Given the description of an element on the screen output the (x, y) to click on. 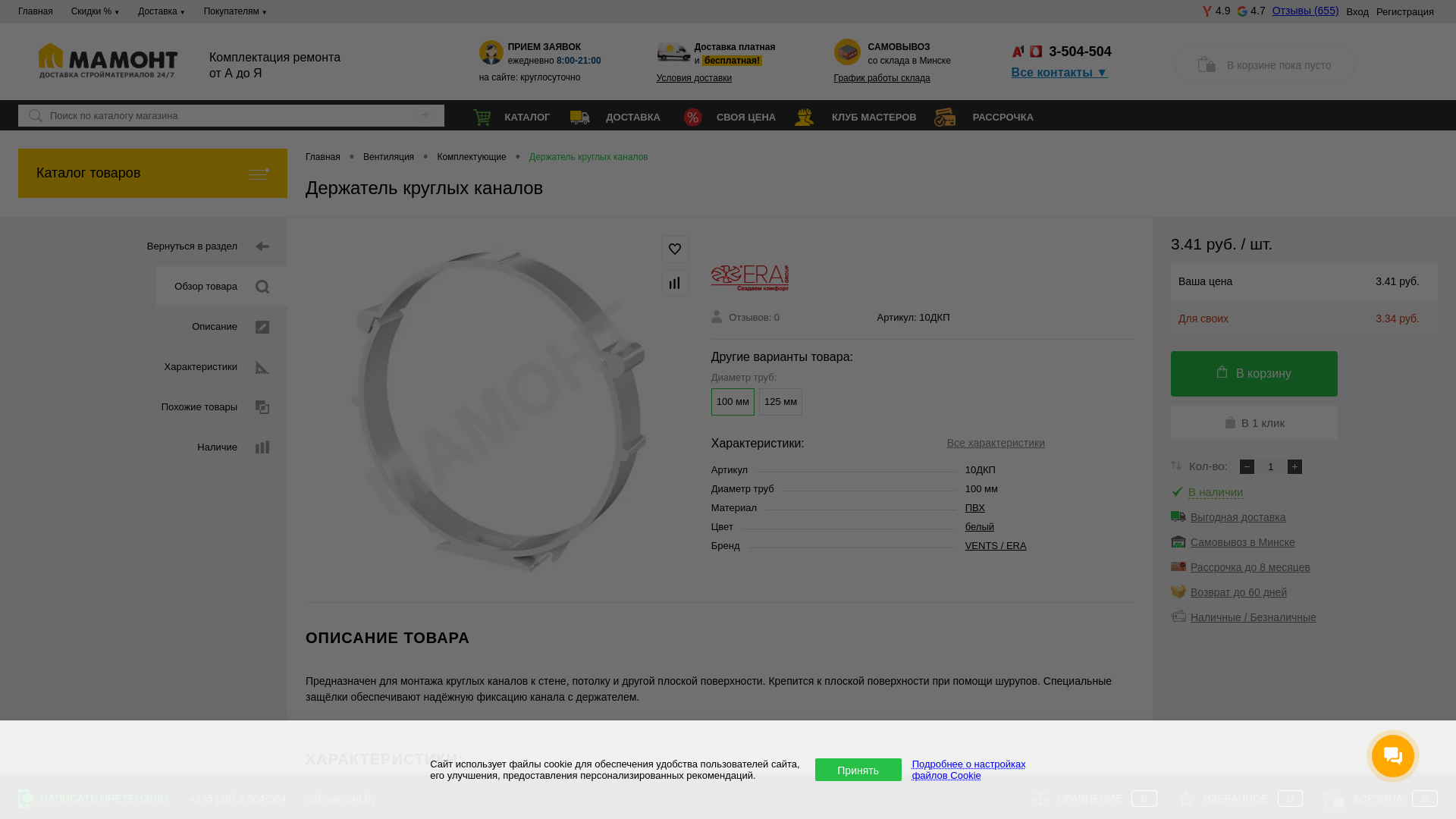
3-504-504 Element type: text (1080, 51)
VENTS / ERA Element type: text (995, 545)
z@mamont.by Element type: text (341, 798)
4.9 Element type: text (1215, 10)
4.7 Element type: text (1250, 10)
Y Element type: text (422, 115)
+375 (29) 3-504-504 Element type: text (236, 798)
